Given the description of an element on the screen output the (x, y) to click on. 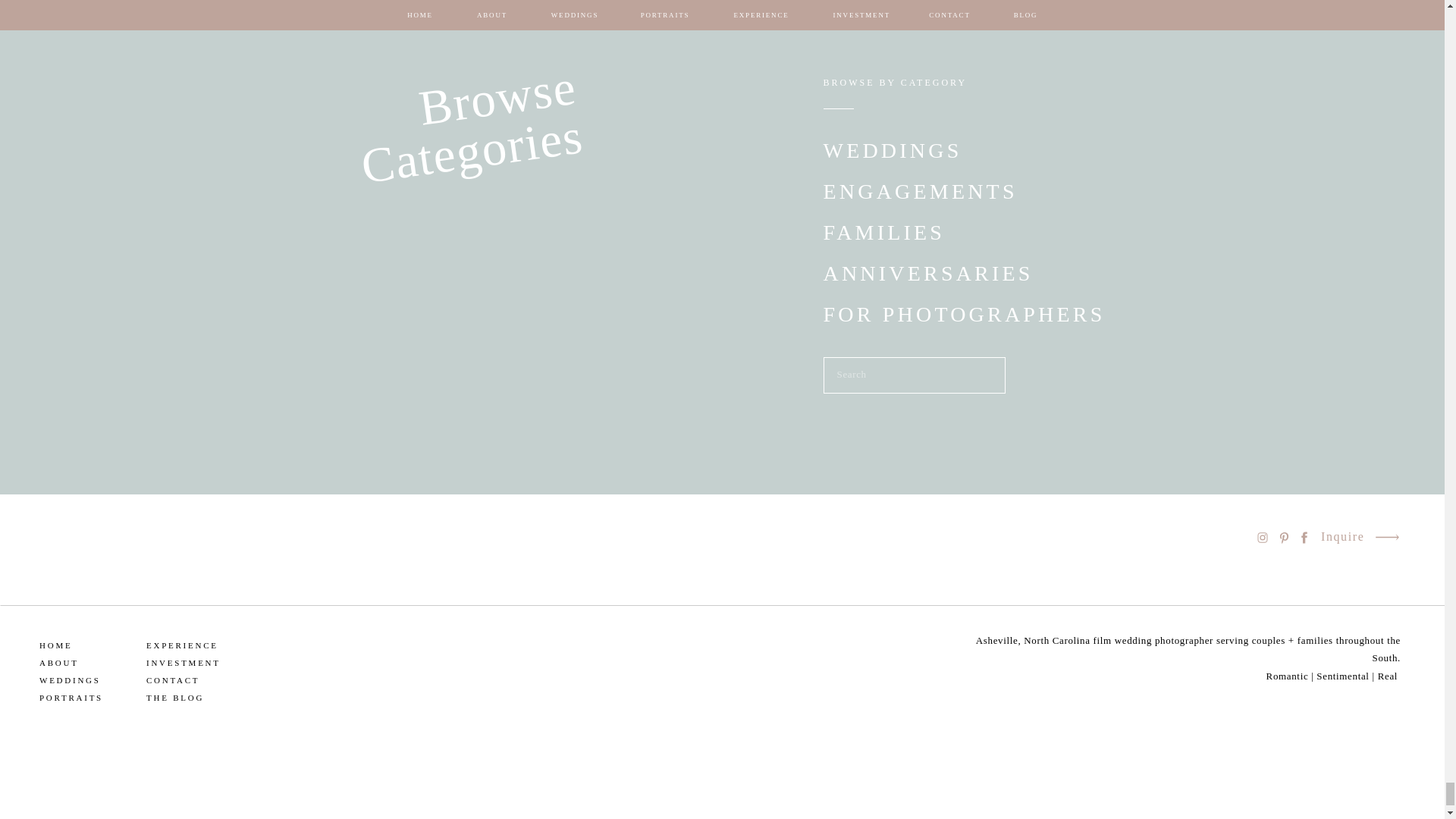
arrow (1386, 537)
